Given the description of an element on the screen output the (x, y) to click on. 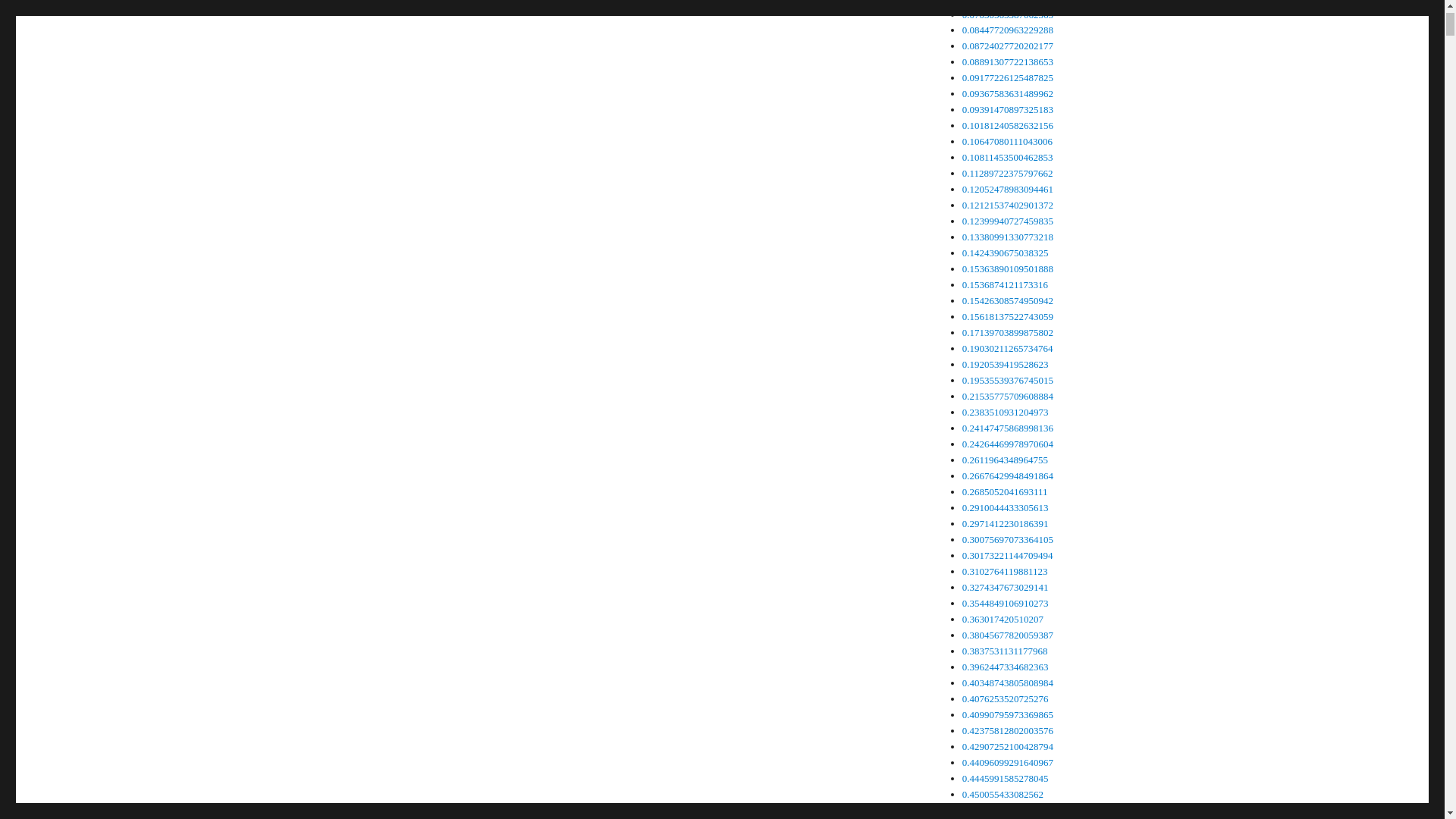
0.09391470897325183 (1007, 109)
0.08724027720202177 (1007, 45)
0.08447720963229288 (1007, 30)
0.038674021625345056 (1010, 2)
0.10181240582632156 (1007, 125)
0.07030565587062365 (1007, 14)
0.09177226125487825 (1007, 77)
0.09367583631489962 (1007, 93)
0.10811453500462853 (1007, 156)
0.11289722375797662 (1007, 173)
